Given the description of an element on the screen output the (x, y) to click on. 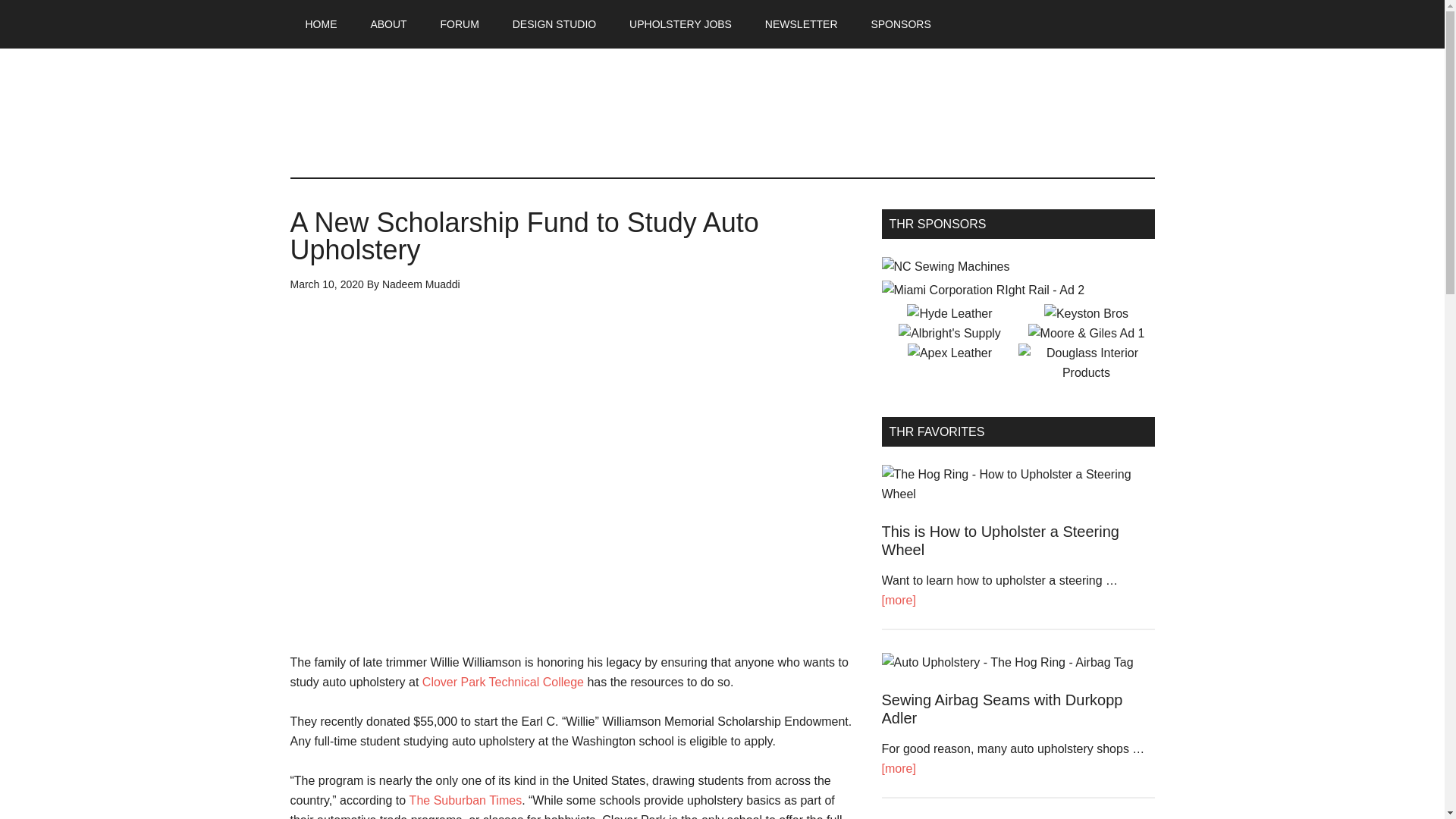
HOME (320, 24)
NEWSLETTER (801, 24)
ABOUT (388, 24)
SPONSORS (900, 24)
The Suburban Times (465, 799)
UPHOLSTERY JOBS (680, 24)
This is How to Upholster a Steering Wheel (999, 540)
Nadeem Muaddi (420, 284)
DESIGN STUDIO (554, 24)
